Given the description of an element on the screen output the (x, y) to click on. 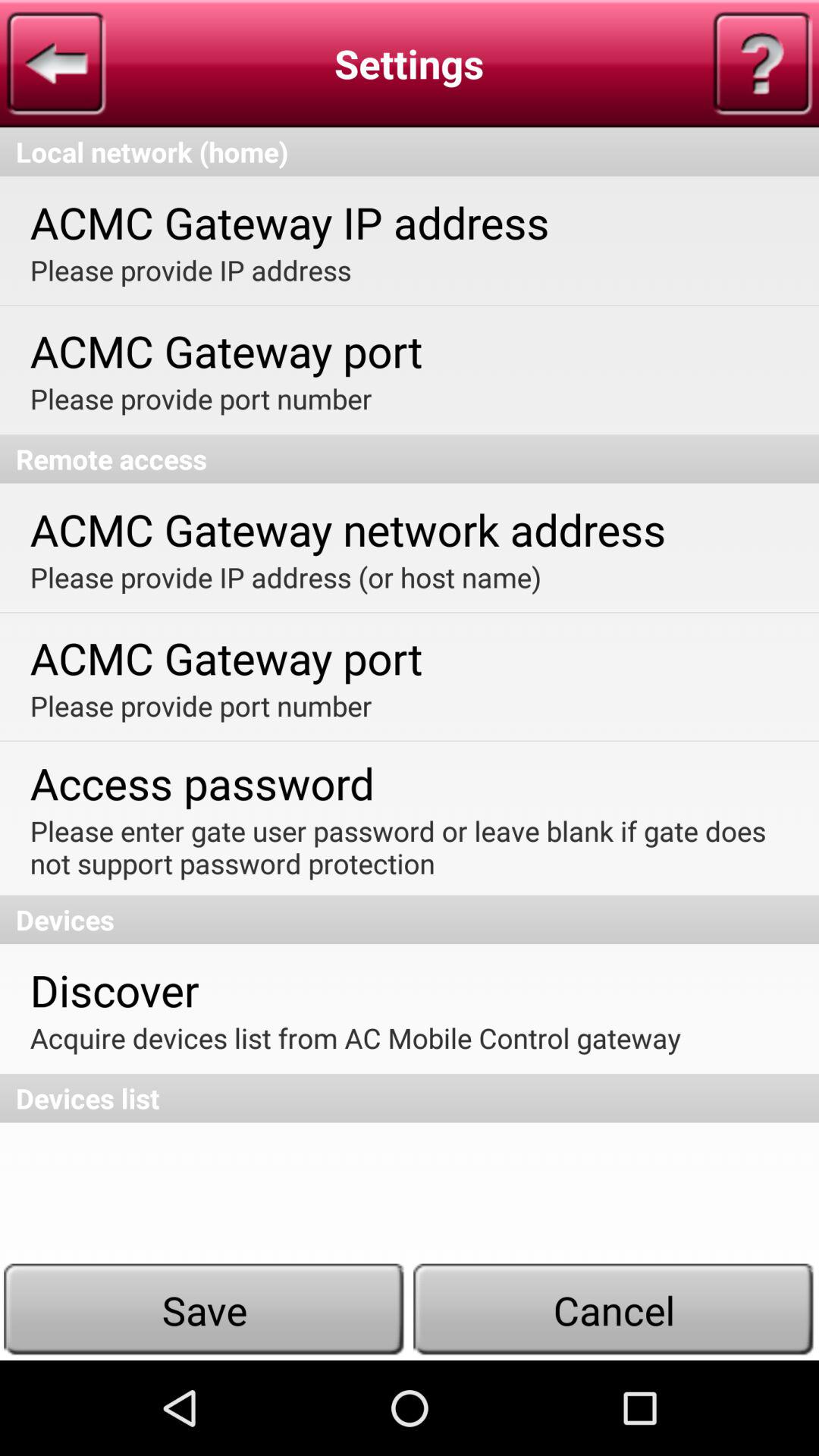
go back (55, 63)
